Given the description of an element on the screen output the (x, y) to click on. 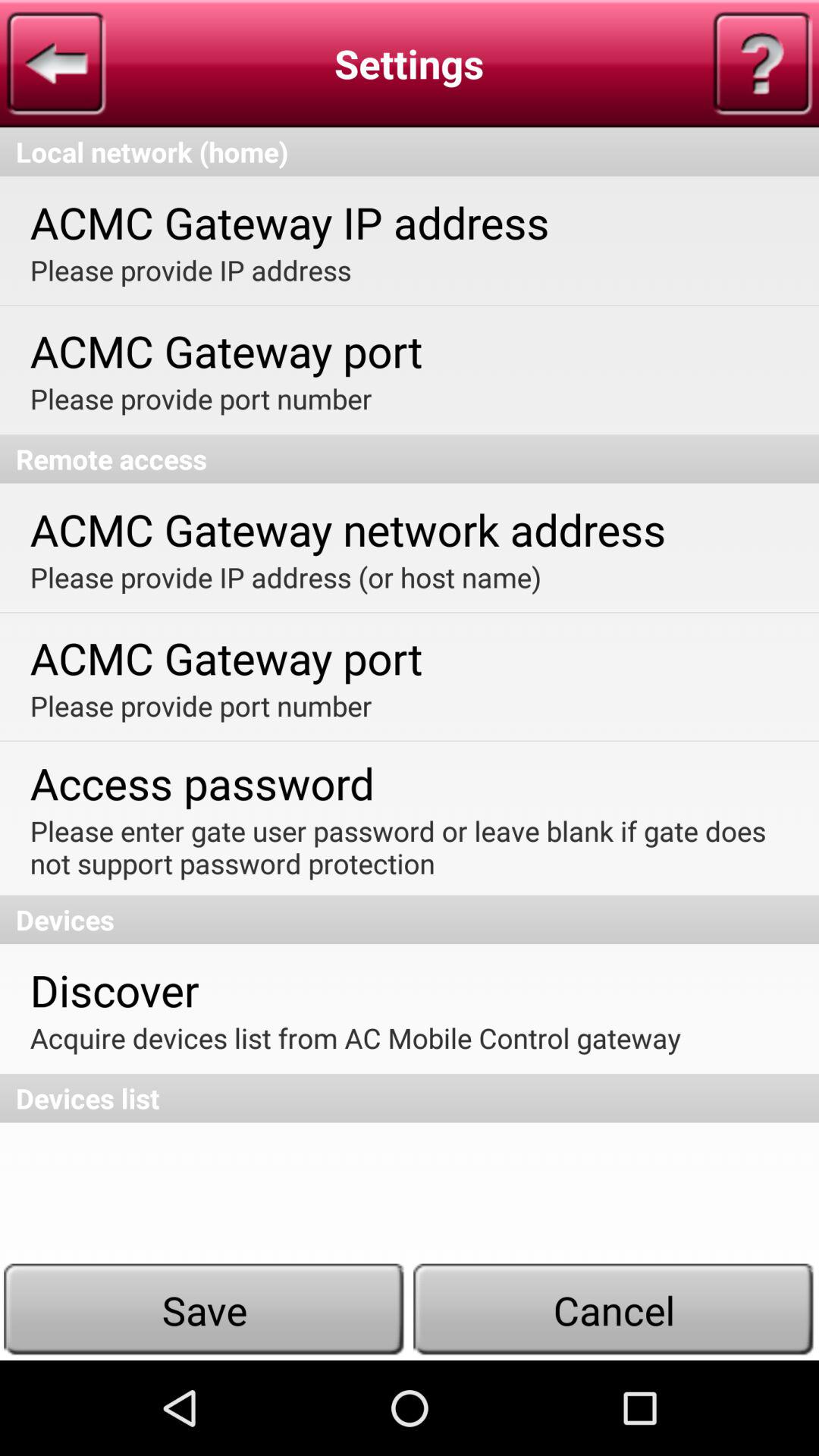
go back (55, 63)
